Given the description of an element on the screen output the (x, y) to click on. 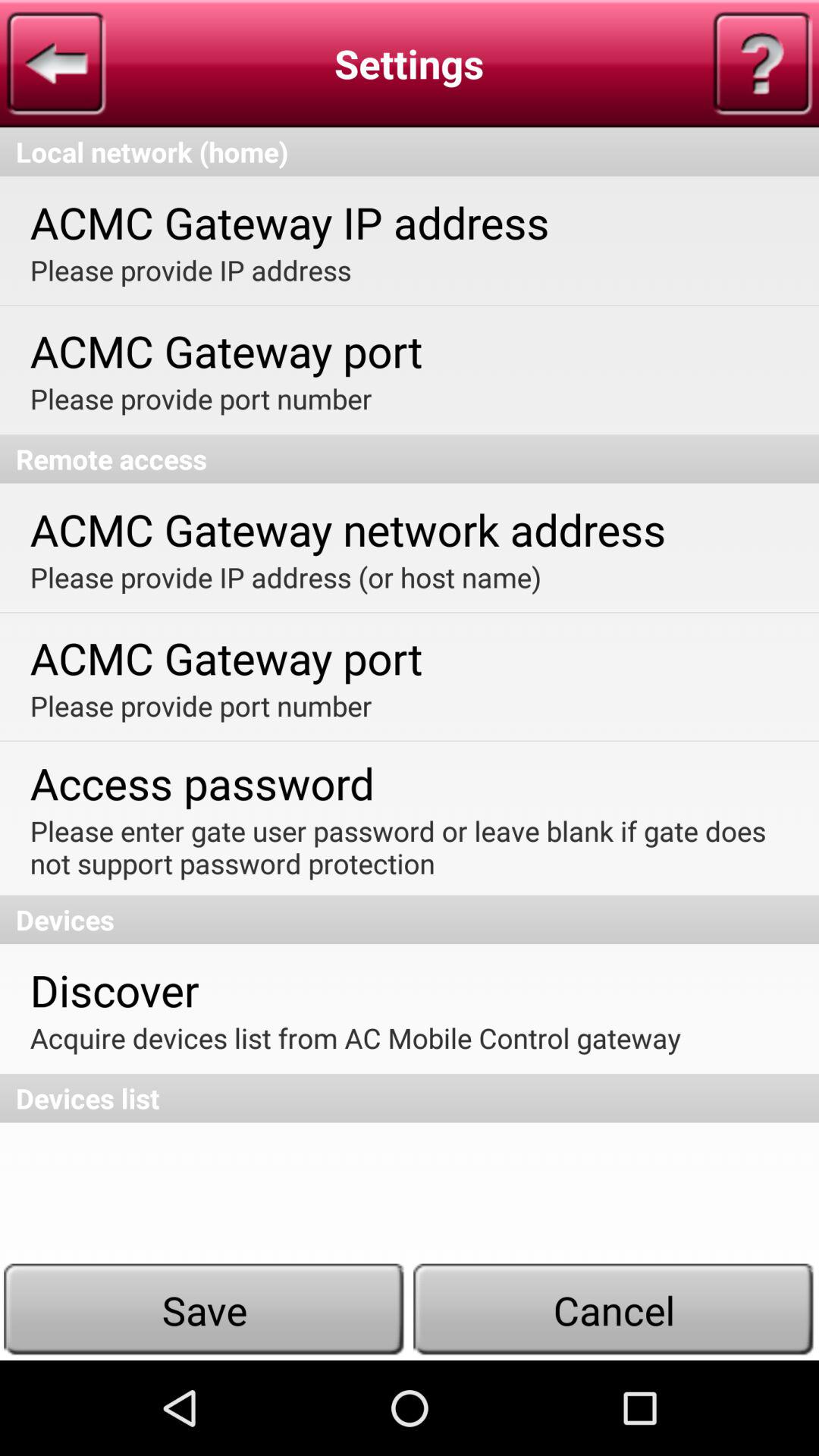
go back (55, 63)
